Given the description of an element on the screen output the (x, y) to click on. 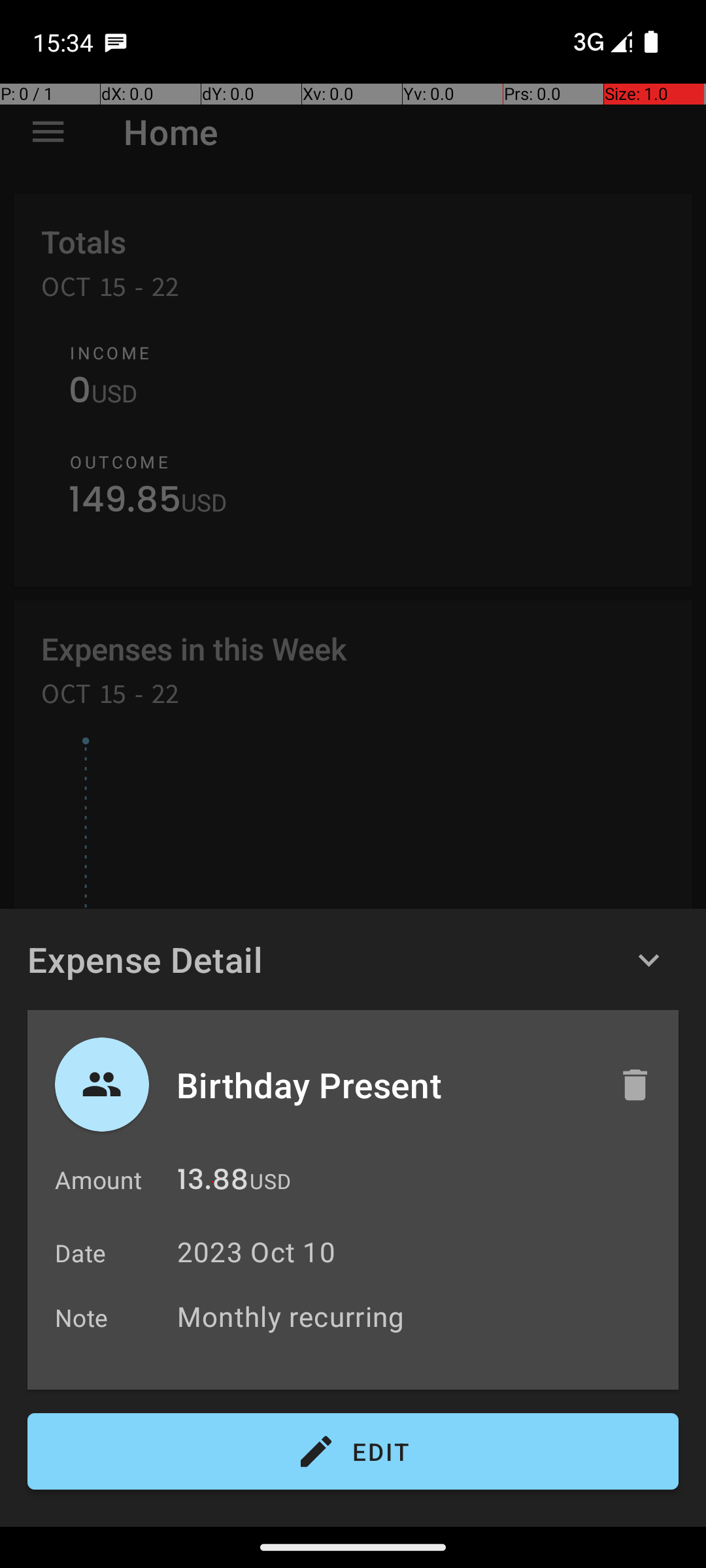
Birthday Present Element type: android.widget.TextView (383, 1084)
13.88 Element type: android.widget.TextView (212, 1182)
2023 Oct 10 Element type: android.widget.TextView (256, 1251)
Monthly recurring Element type: android.widget.TextView (420, 1315)
